Given the description of an element on the screen output the (x, y) to click on. 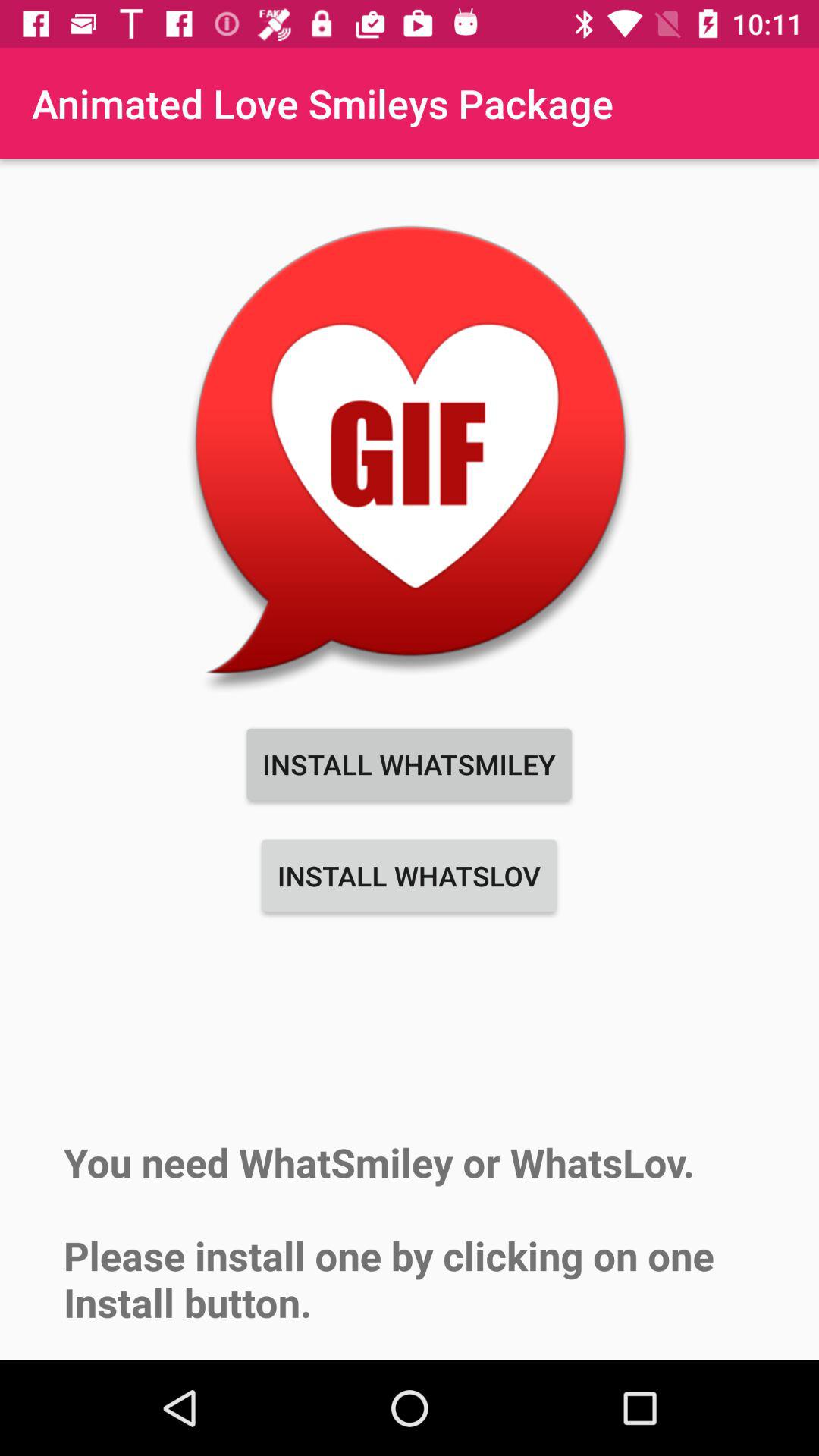
open item above the install whatsmiley icon (409, 453)
